Given the description of an element on the screen output the (x, y) to click on. 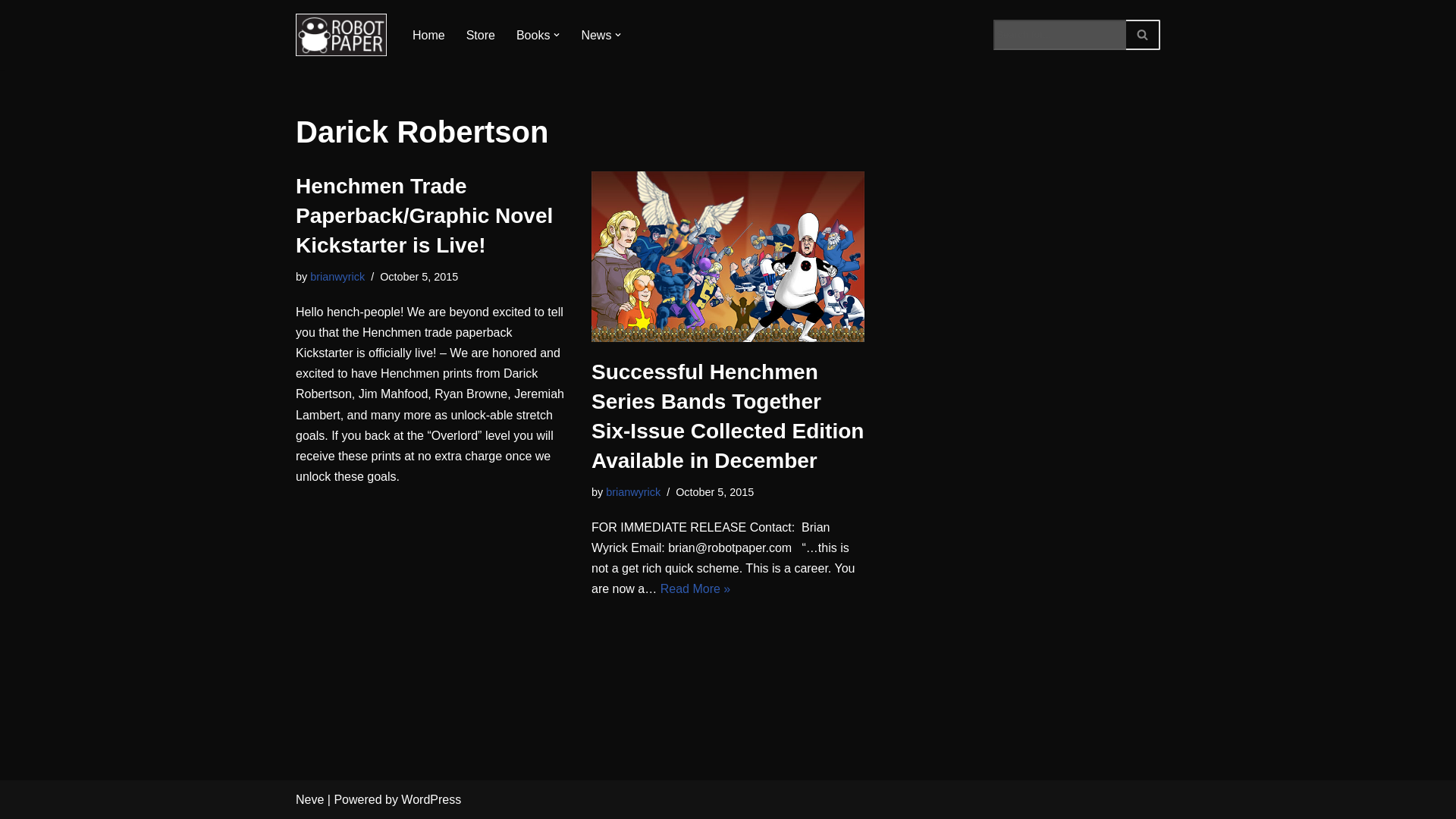
News (595, 35)
Neve (309, 799)
Books (533, 35)
Posts by brianwyrick (633, 491)
brianwyrick (337, 276)
brianwyrick (633, 491)
Store (480, 35)
Skip to content (11, 31)
WordPress (431, 799)
Posts by brianwyrick (337, 276)
Home (428, 35)
